Given the description of an element on the screen output the (x, y) to click on. 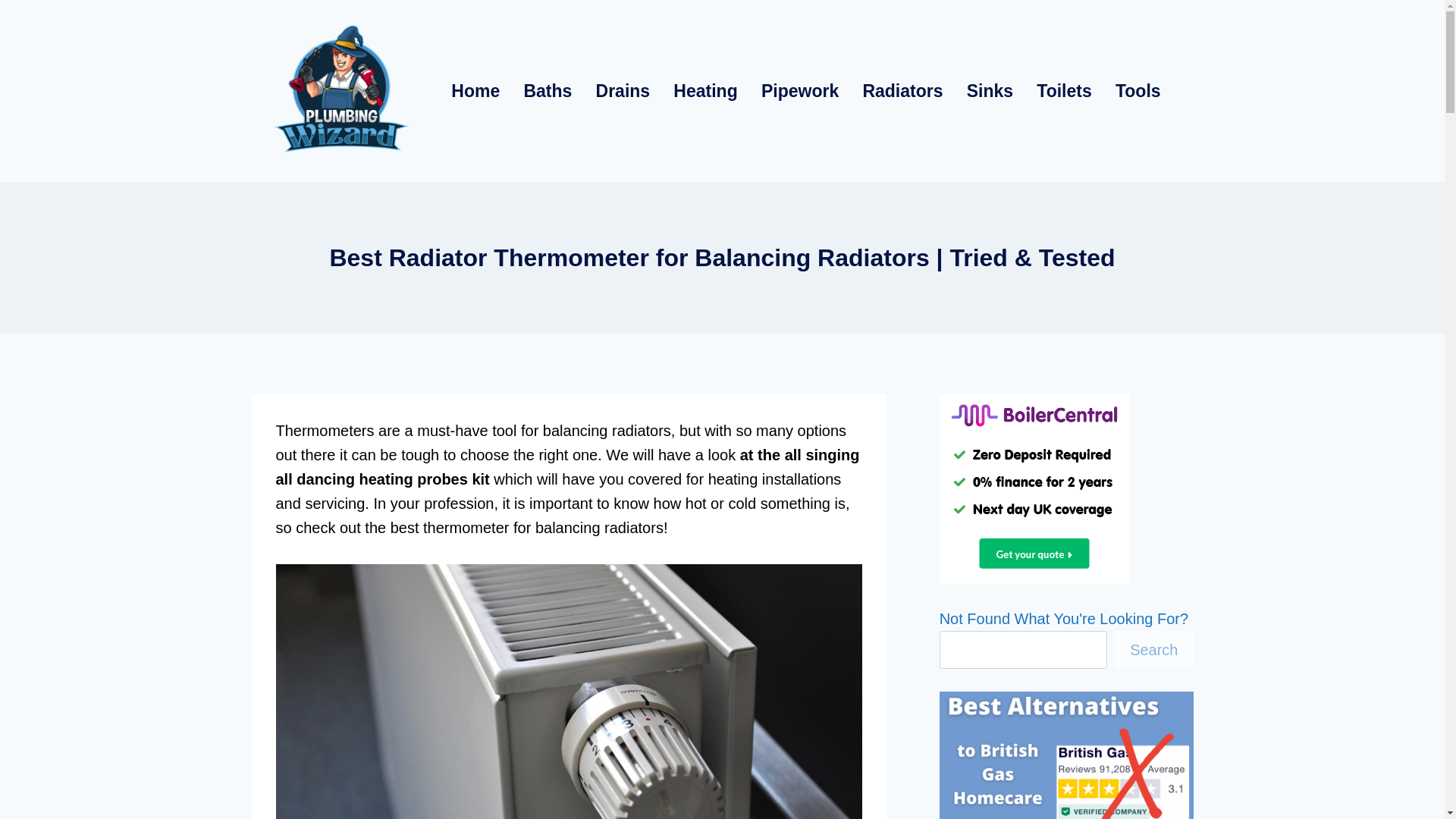
Drains (623, 90)
Toilets (1064, 90)
Radiators (902, 90)
Heating (705, 90)
Pipework (799, 90)
